Given the description of an element on the screen output the (x, y) to click on. 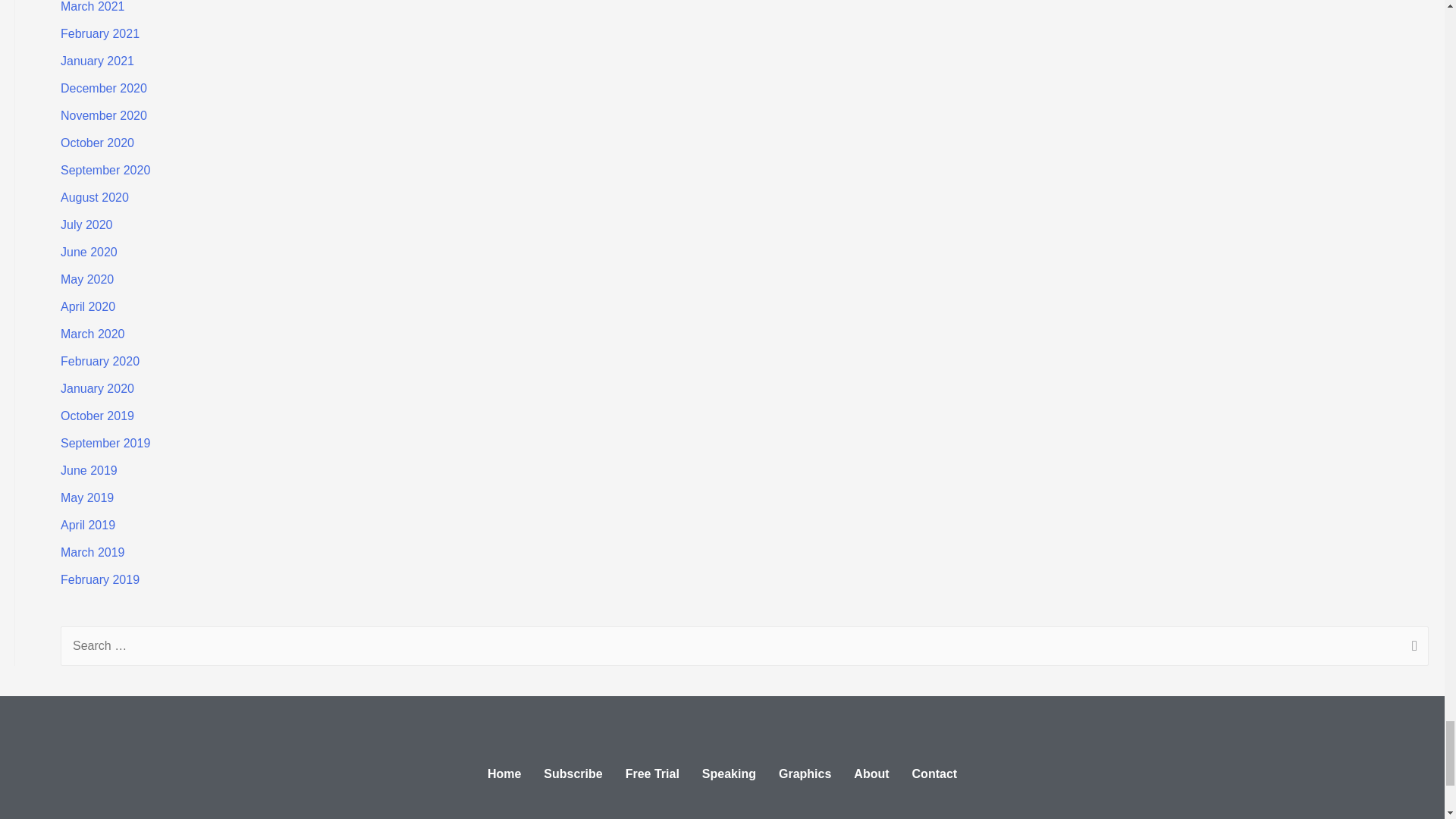
Search (1411, 647)
Search (1411, 647)
